Given the description of an element on the screen output the (x, y) to click on. 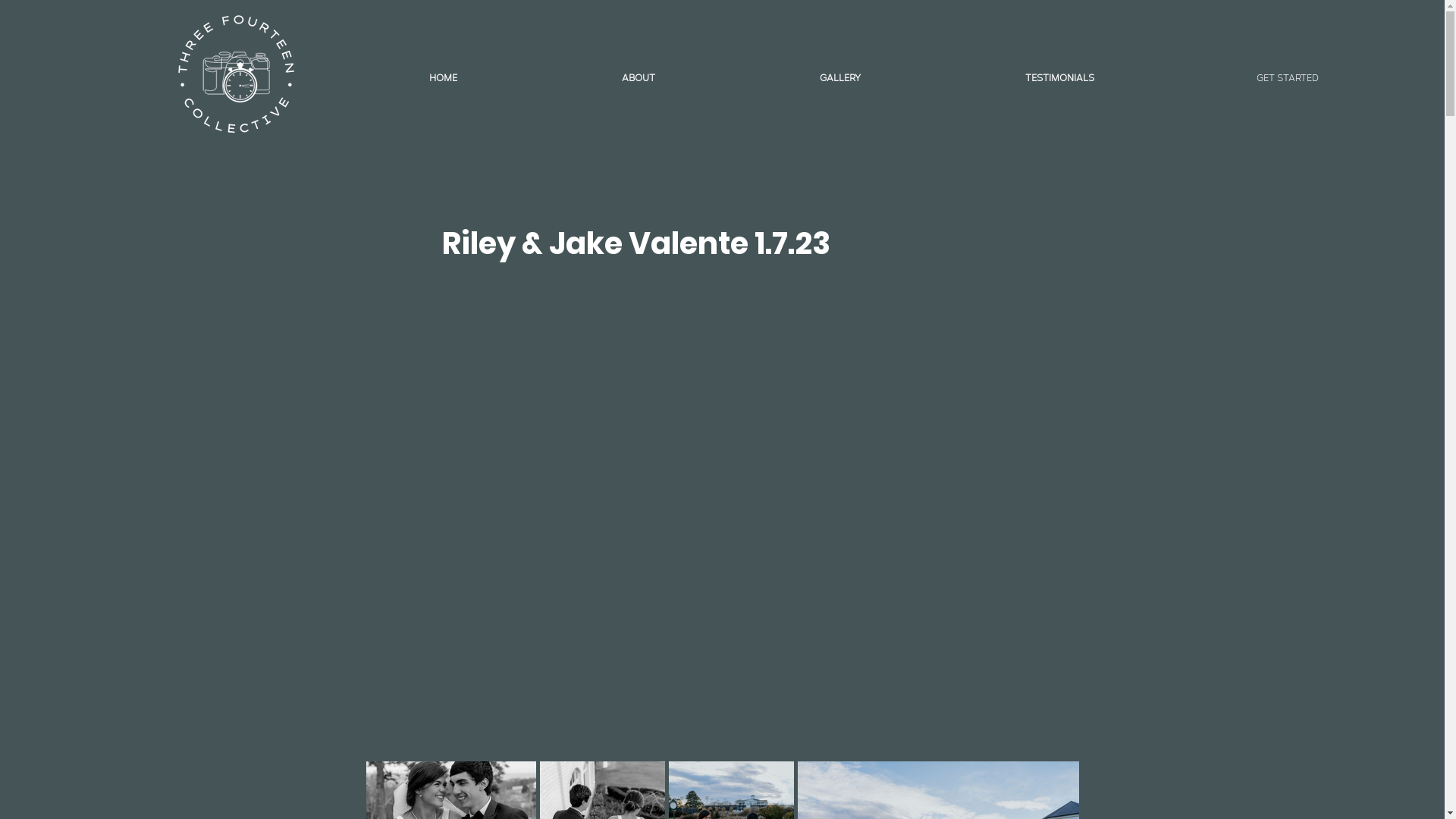
GALLERY Element type: text (840, 77)
TESTIMONIALS Element type: text (1059, 77)
HOME Element type: text (443, 77)
ABOUT Element type: text (638, 77)
